Given the description of an element on the screen output the (x, y) to click on. 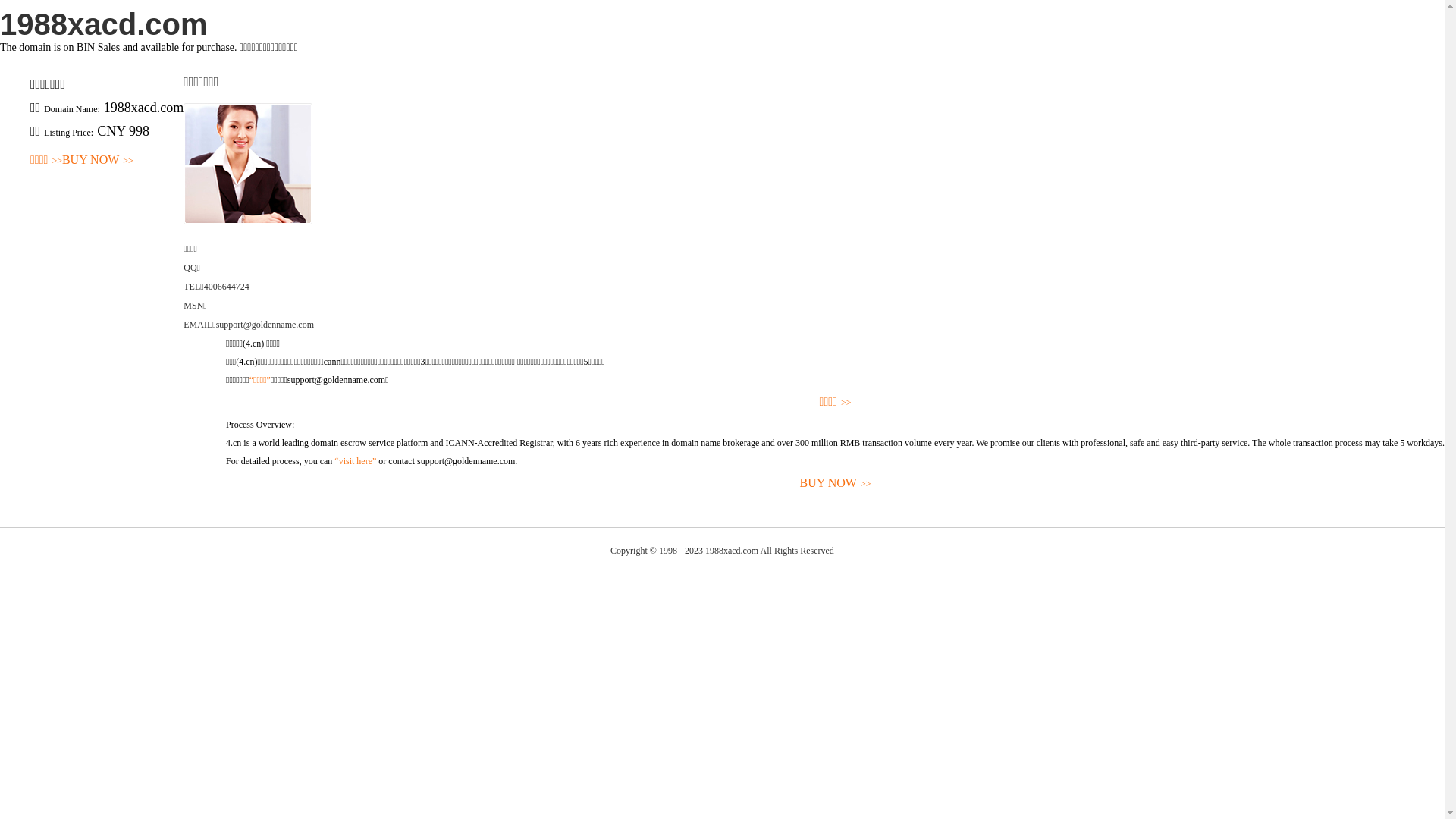
BUY NOW>> Element type: text (834, 483)
BUY NOW>> Element type: text (97, 160)
